Given the description of an element on the screen output the (x, y) to click on. 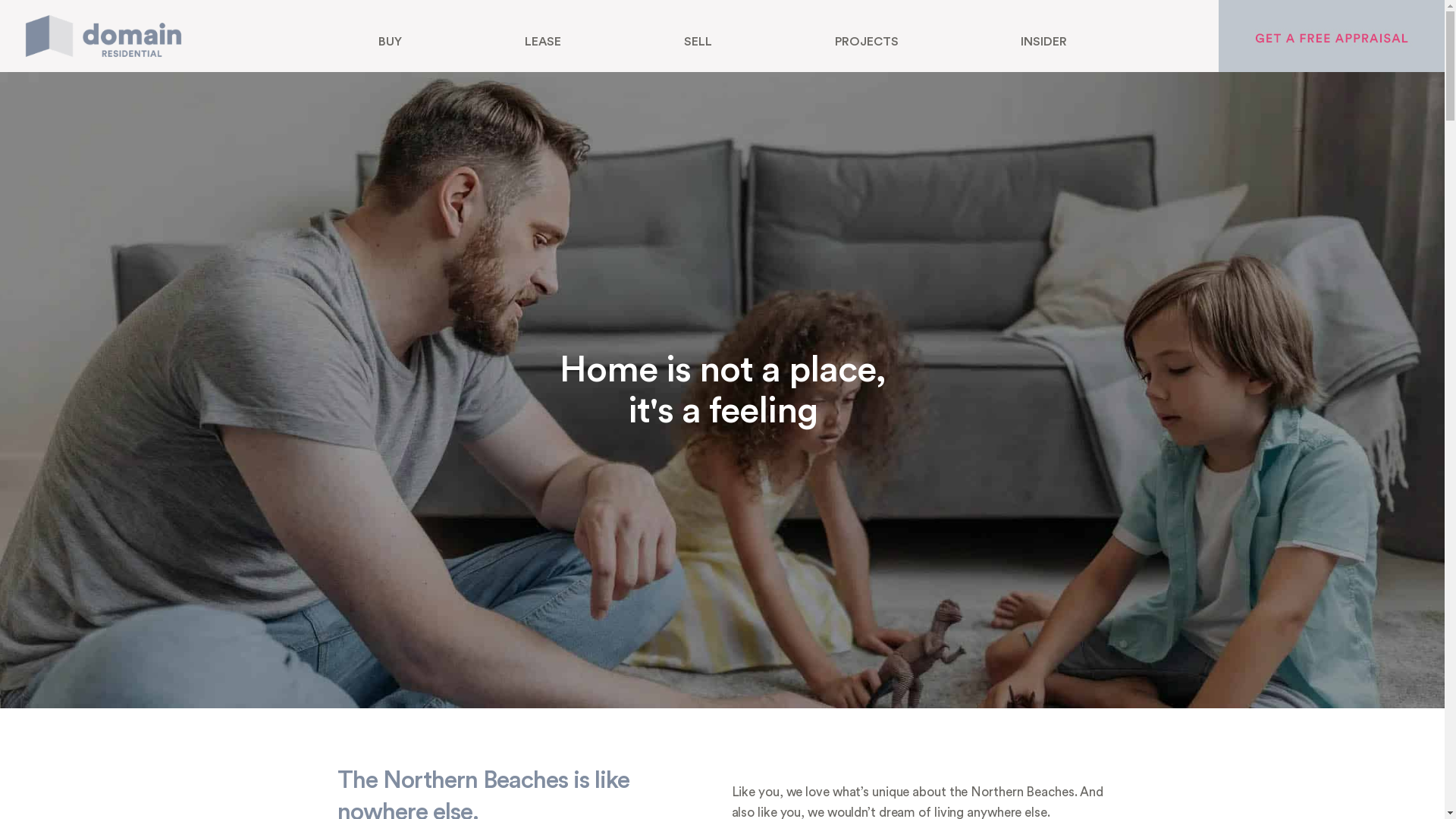
INSIDER Element type: text (1044, 41)
LEASE Element type: text (542, 41)
BUY Element type: text (389, 41)
SELL Element type: text (697, 41)
PROJECTS Element type: text (866, 41)
